Given the description of an element on the screen output the (x, y) to click on. 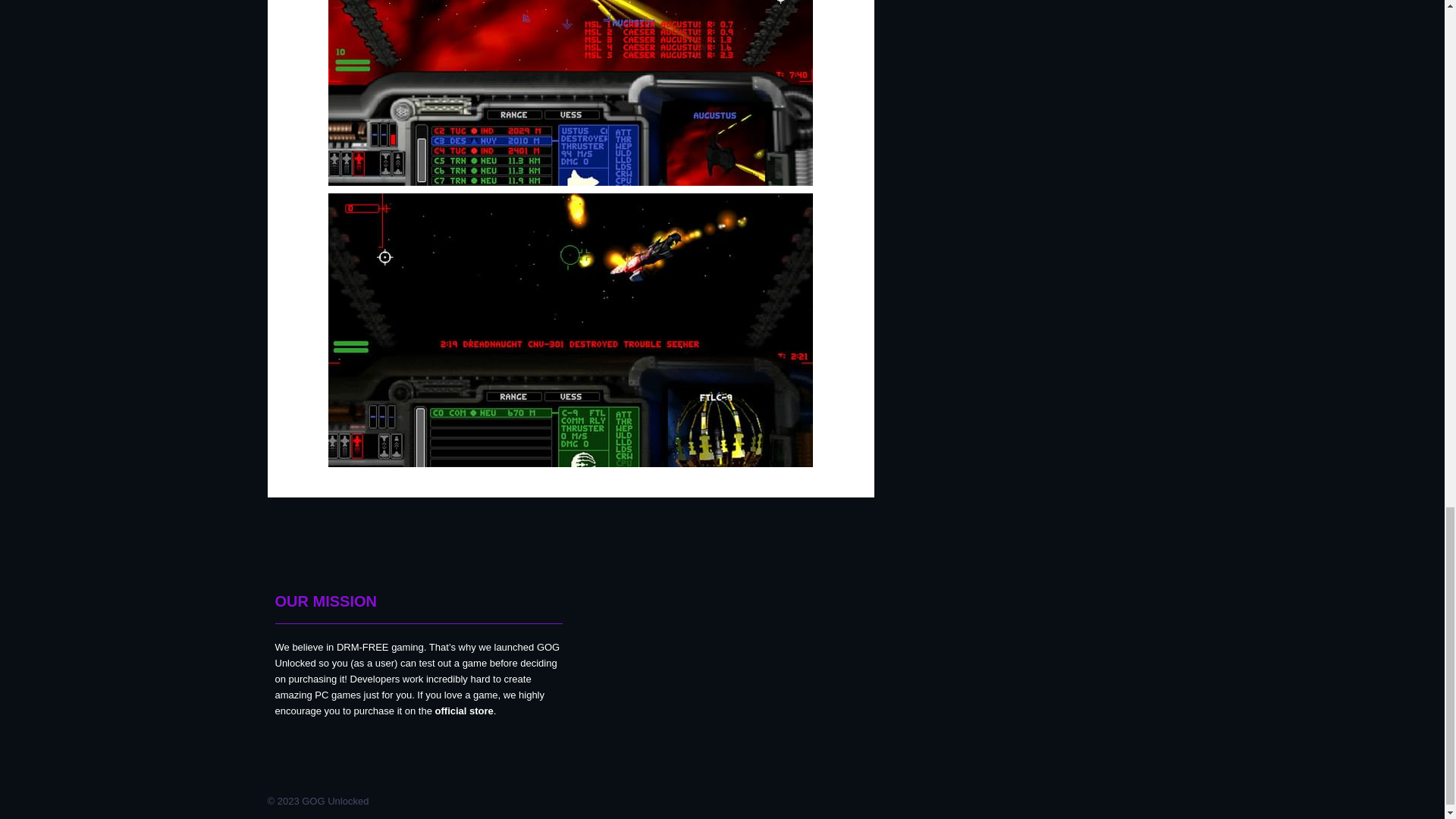
official store (464, 710)
